Given the description of an element on the screen output the (x, y) to click on. 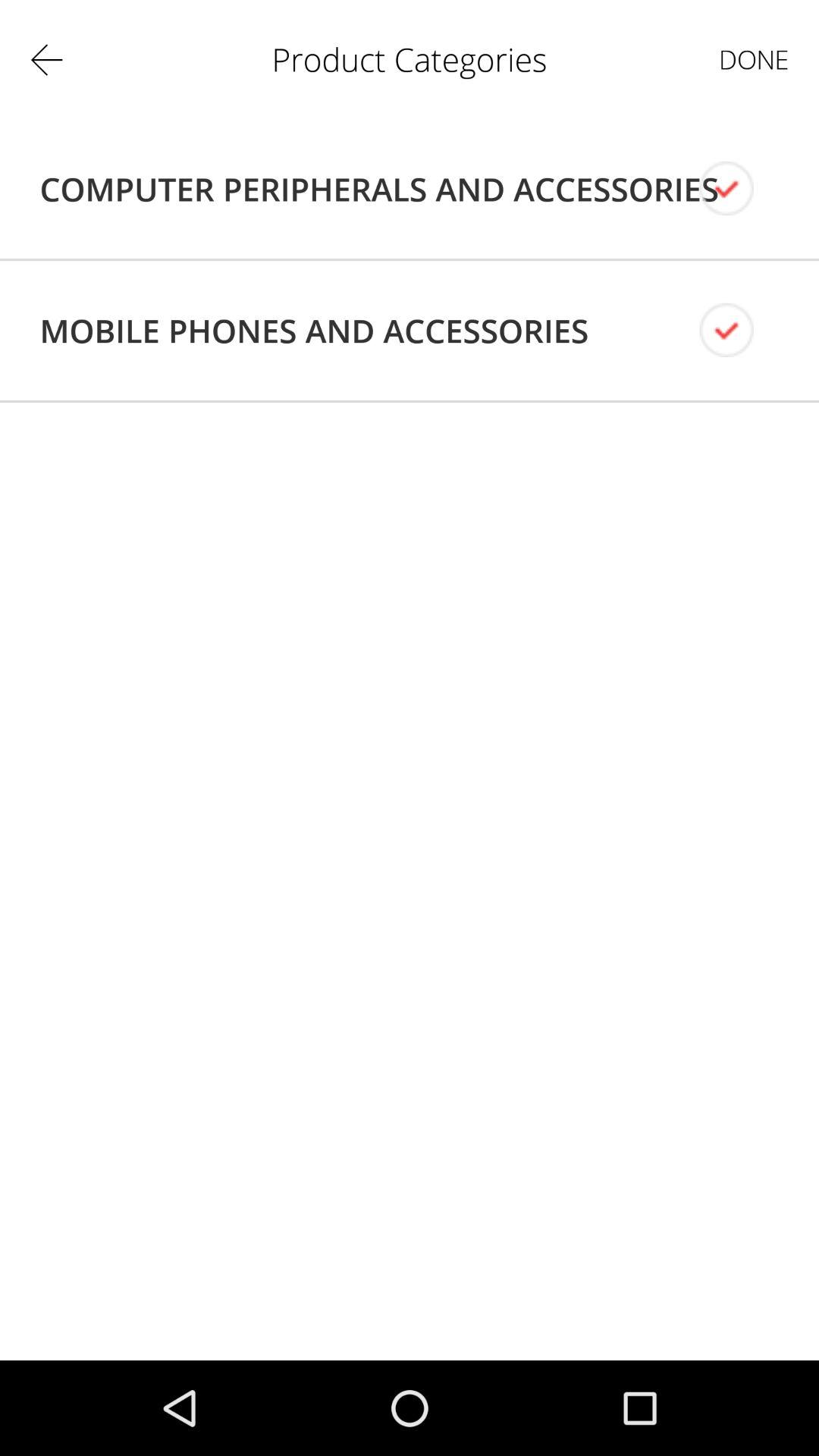
press the app below _ item (378, 188)
